Given the description of an element on the screen output the (x, y) to click on. 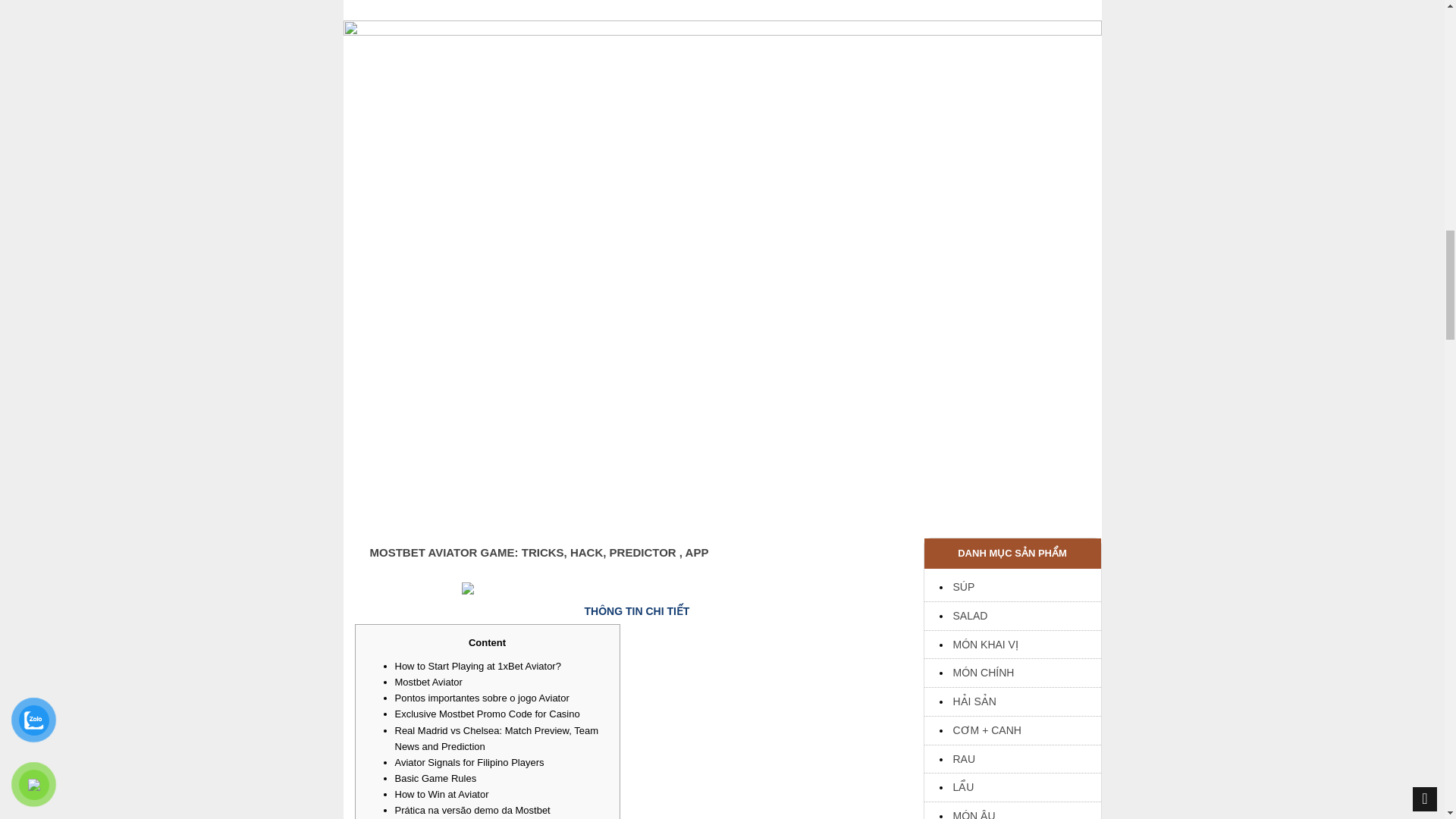
Pontos importantes sobre o jogo Aviator (481, 697)
Exclusive Mostbet Promo Code for Casino (486, 713)
How to Start Playing at 1xBet Aviator? (477, 665)
Aviator Signals for Filipino Players (468, 762)
Basic Game Rules (435, 778)
How to Win at Aviator (440, 794)
Mostbet Aviator (427, 681)
